Given the description of an element on the screen output the (x, y) to click on. 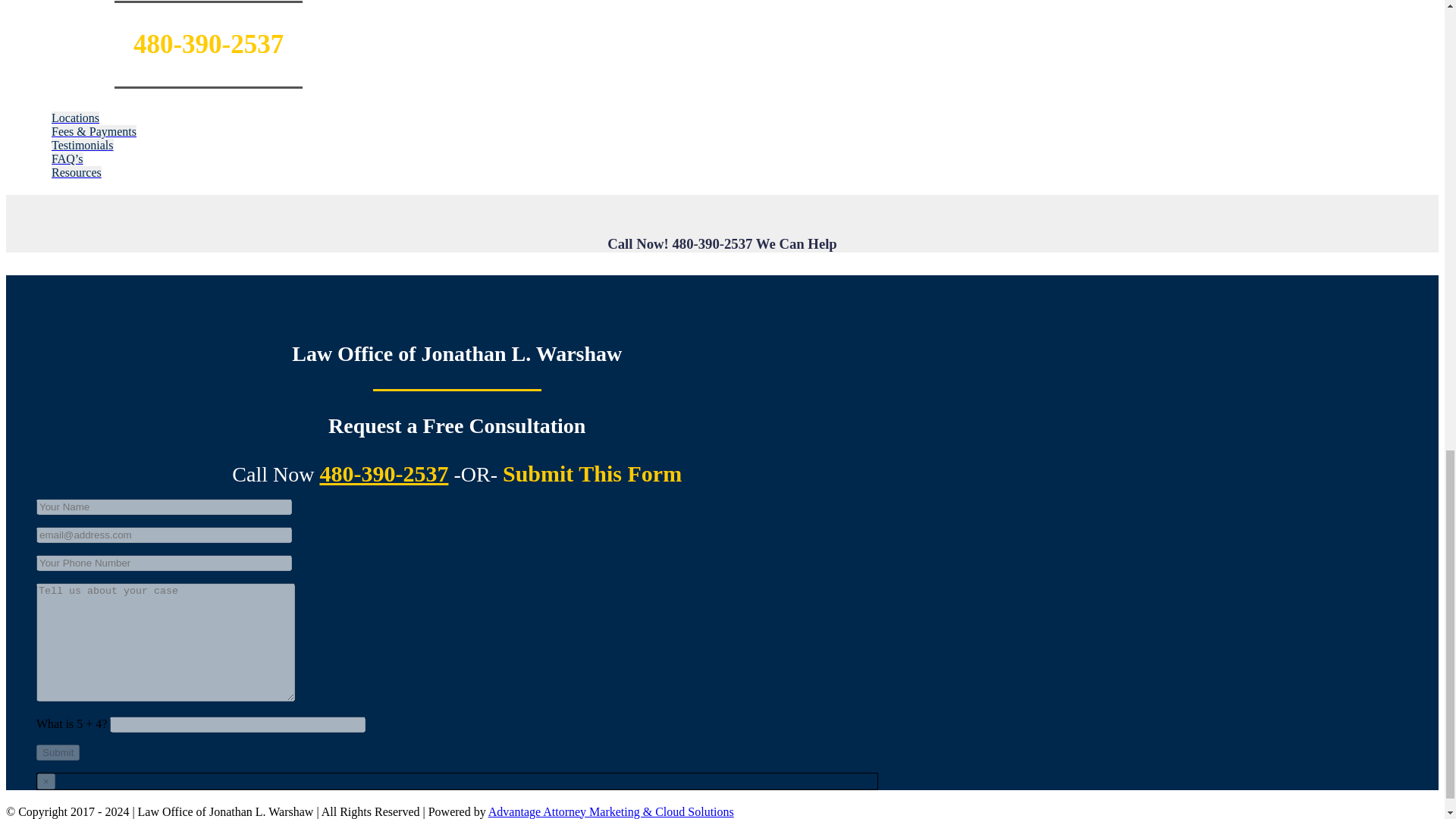
480-390-2537 (383, 473)
Locations (74, 117)
Submit (58, 752)
Resources (75, 172)
Testimonials (81, 144)
Submit (58, 752)
